Given the description of an element on the screen output the (x, y) to click on. 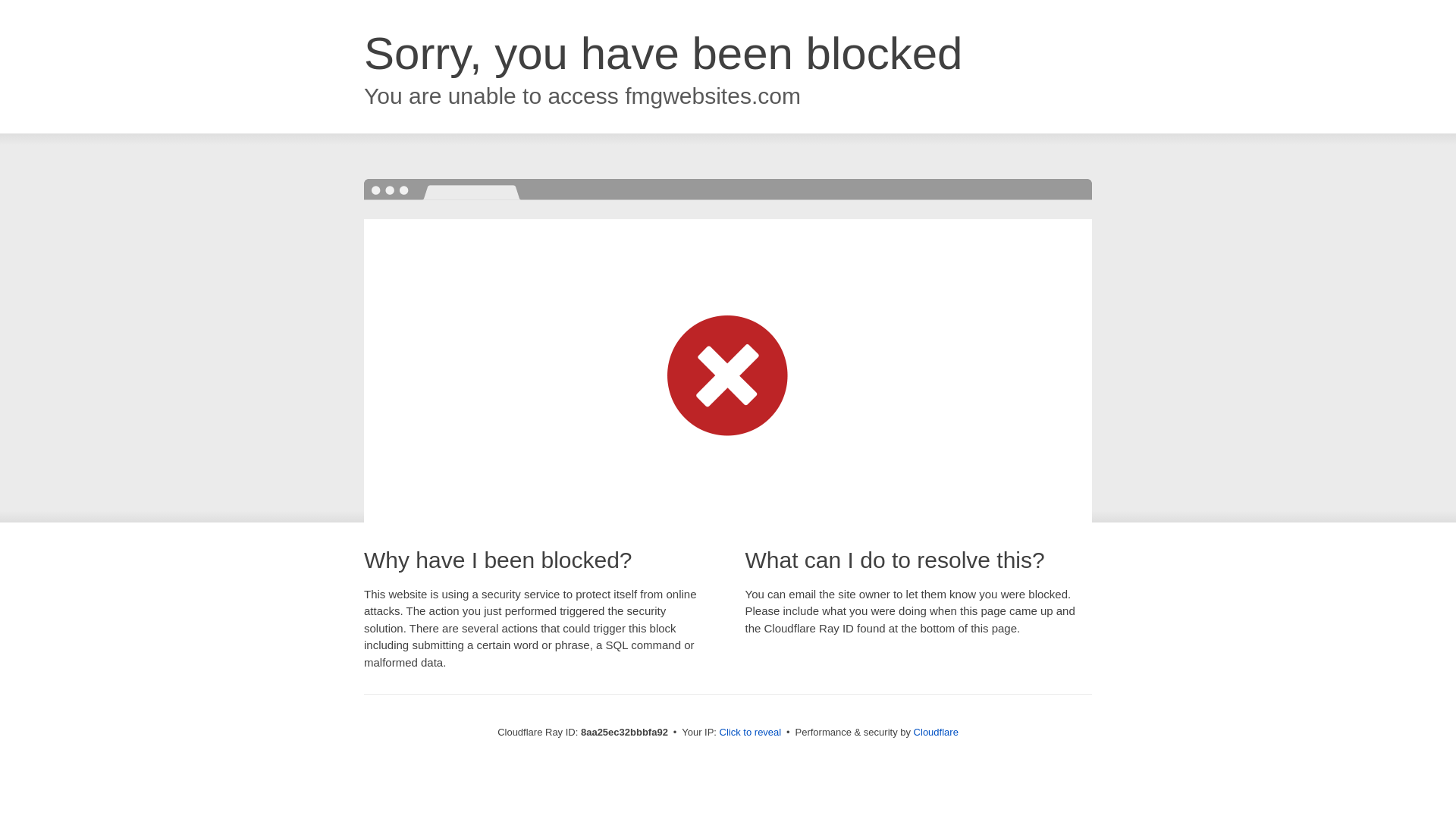
Click to reveal (750, 732)
Cloudflare (936, 731)
